Given the description of an element on the screen output the (x, y) to click on. 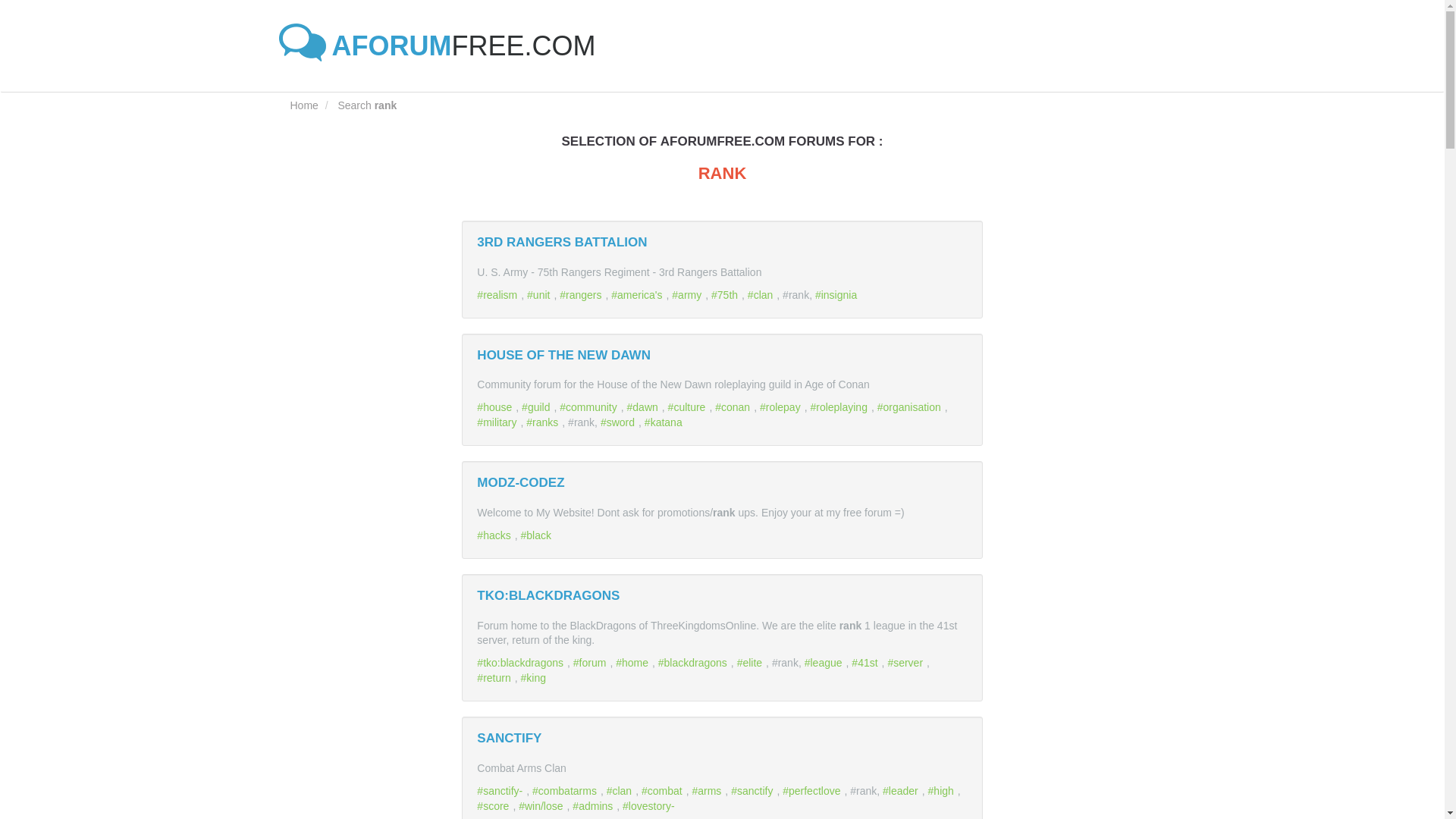
hacks (495, 535)
forum (591, 662)
roleplaying (839, 407)
america's (638, 295)
House of the New Dawn (563, 355)
black (537, 535)
3RD RANGERS BATTALION (561, 242)
insignia (837, 295)
house (496, 407)
rolepay (782, 407)
rangers (582, 295)
conan (734, 407)
clan (762, 295)
conan (734, 407)
blackdragons (694, 662)
